Given the description of an element on the screen output the (x, y) to click on. 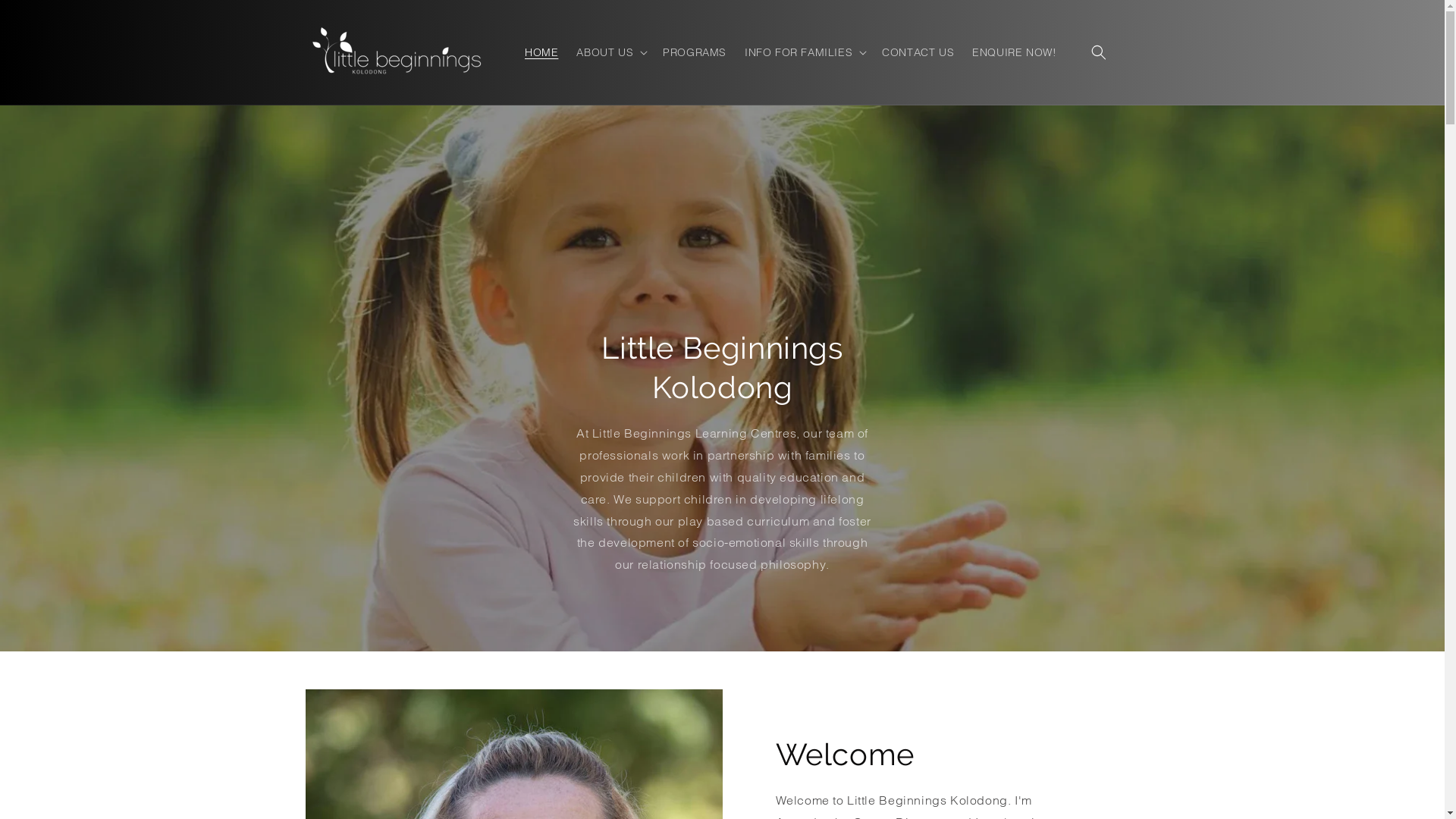
Cart Element type: text (1131, 52)
HOME Element type: text (541, 52)
PROGRAMS Element type: text (694, 52)
ENQUIRE NOW! Element type: text (1014, 52)
CONTACT US Element type: text (917, 52)
